Given the description of an element on the screen output the (x, y) to click on. 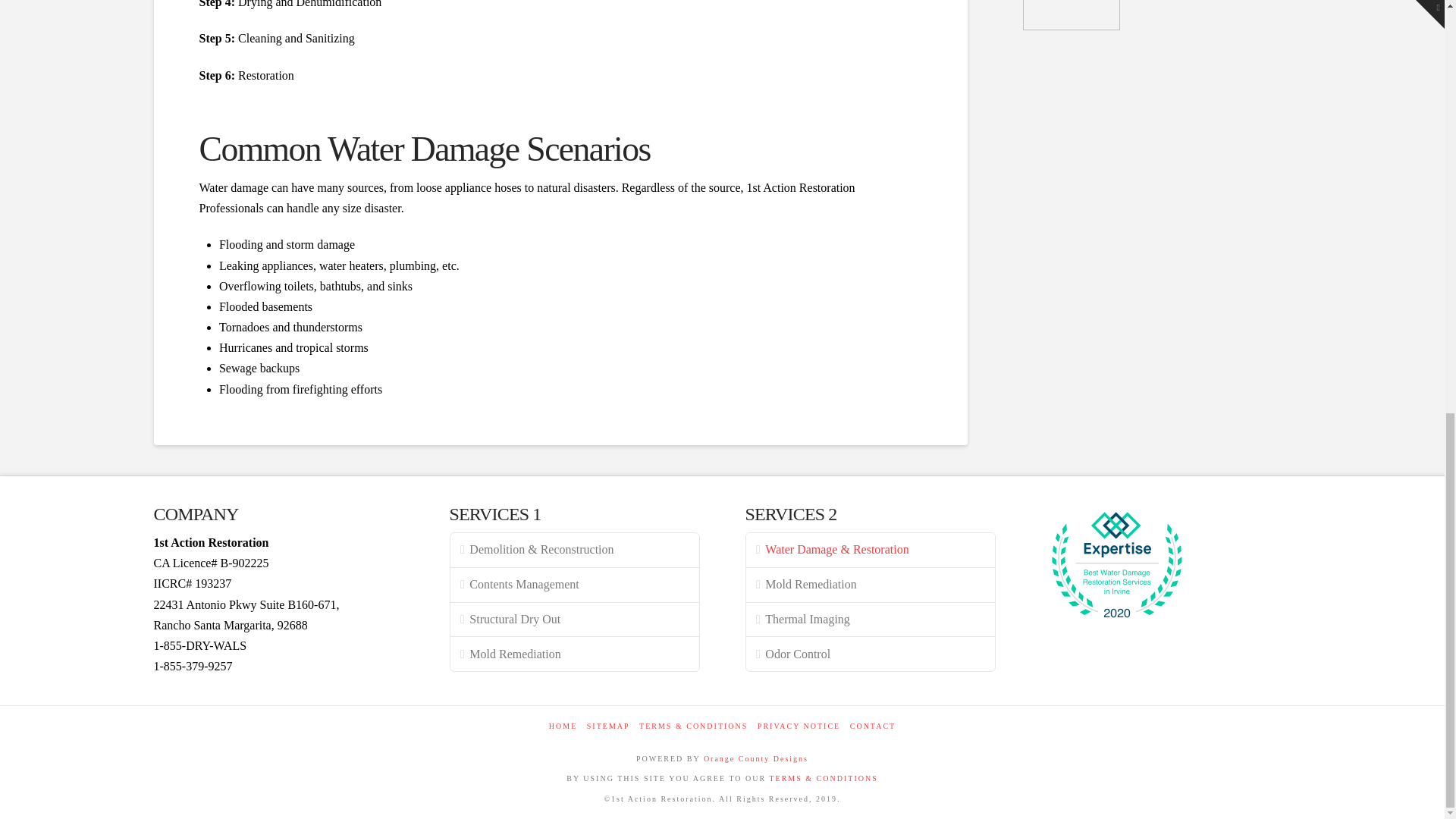
XDESIGN (755, 758)
Structural Dry Out (573, 620)
Mold Remediation (573, 654)
Contents Management (573, 585)
